Given the description of an element on the screen output the (x, y) to click on. 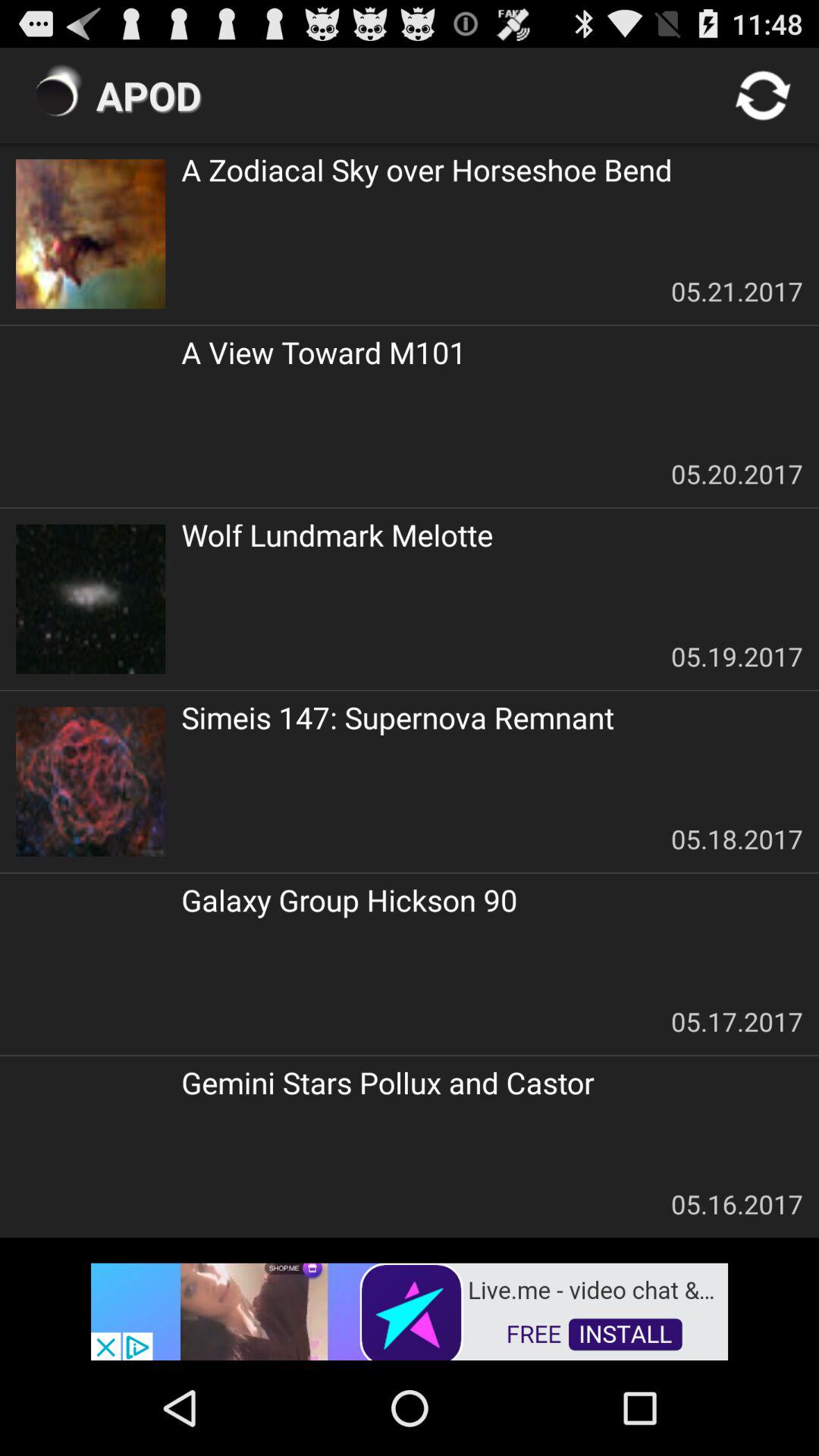
go to advertisement (409, 1310)
